Given the description of an element on the screen output the (x, y) to click on. 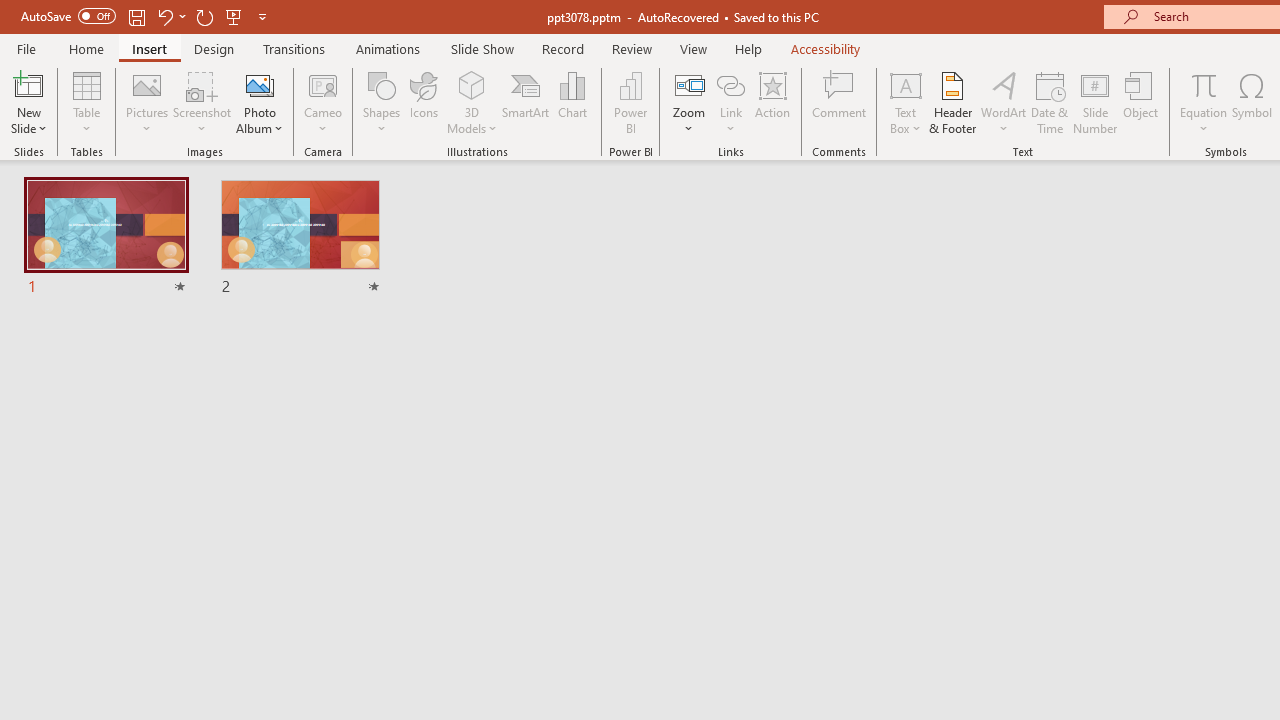
Table (86, 102)
Header & Footer... (952, 102)
Symbol... (1252, 102)
Date & Time... (1050, 102)
Screenshot (202, 102)
3D Models (472, 84)
Action (772, 102)
